Given the description of an element on the screen output the (x, y) to click on. 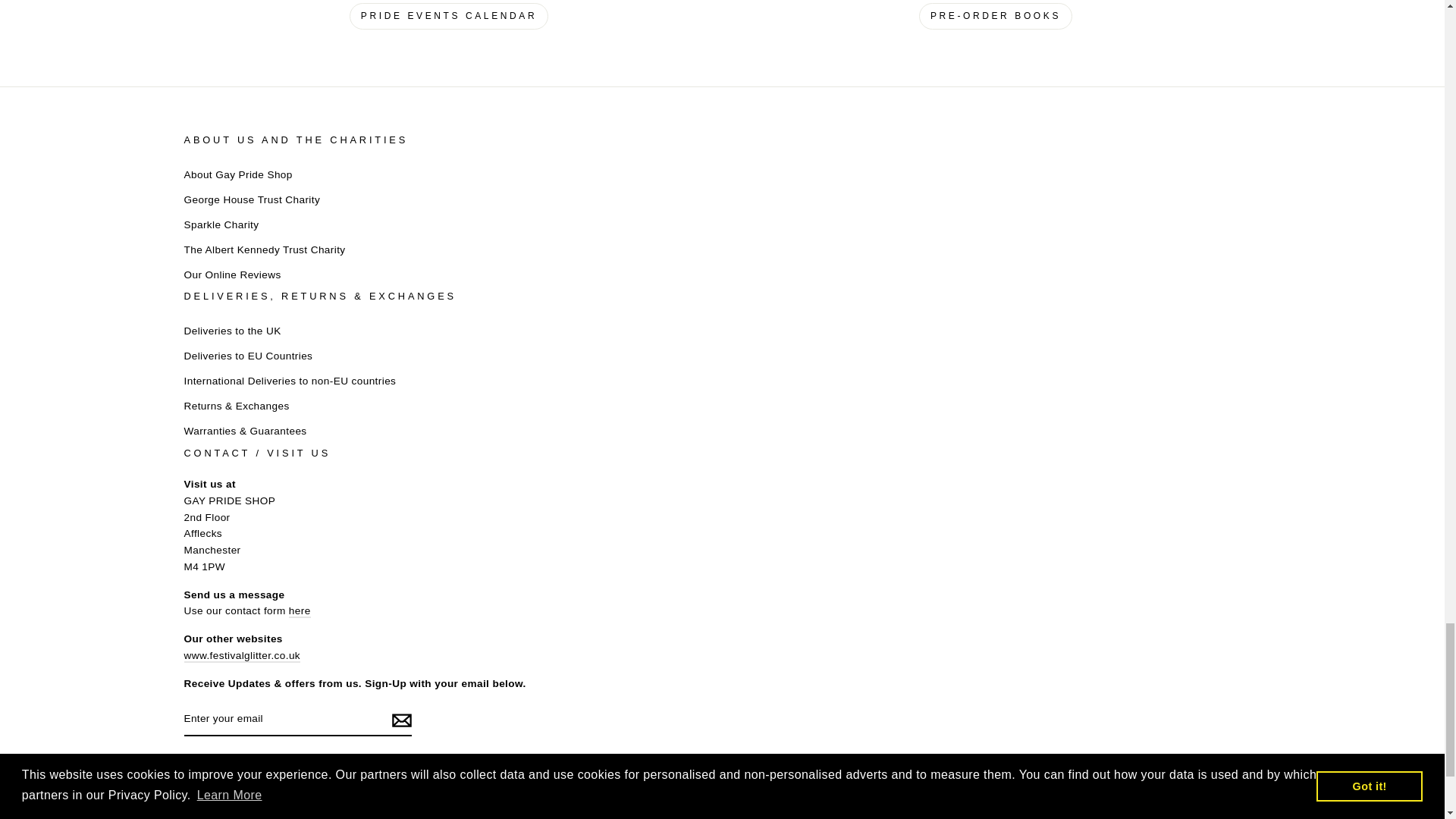
www.gayprideshop.co.uk on Instagram (192, 768)
Contact us (299, 611)
www.gayprideshop.co.uk on Facebook (222, 768)
